Given the description of an element on the screen output the (x, y) to click on. 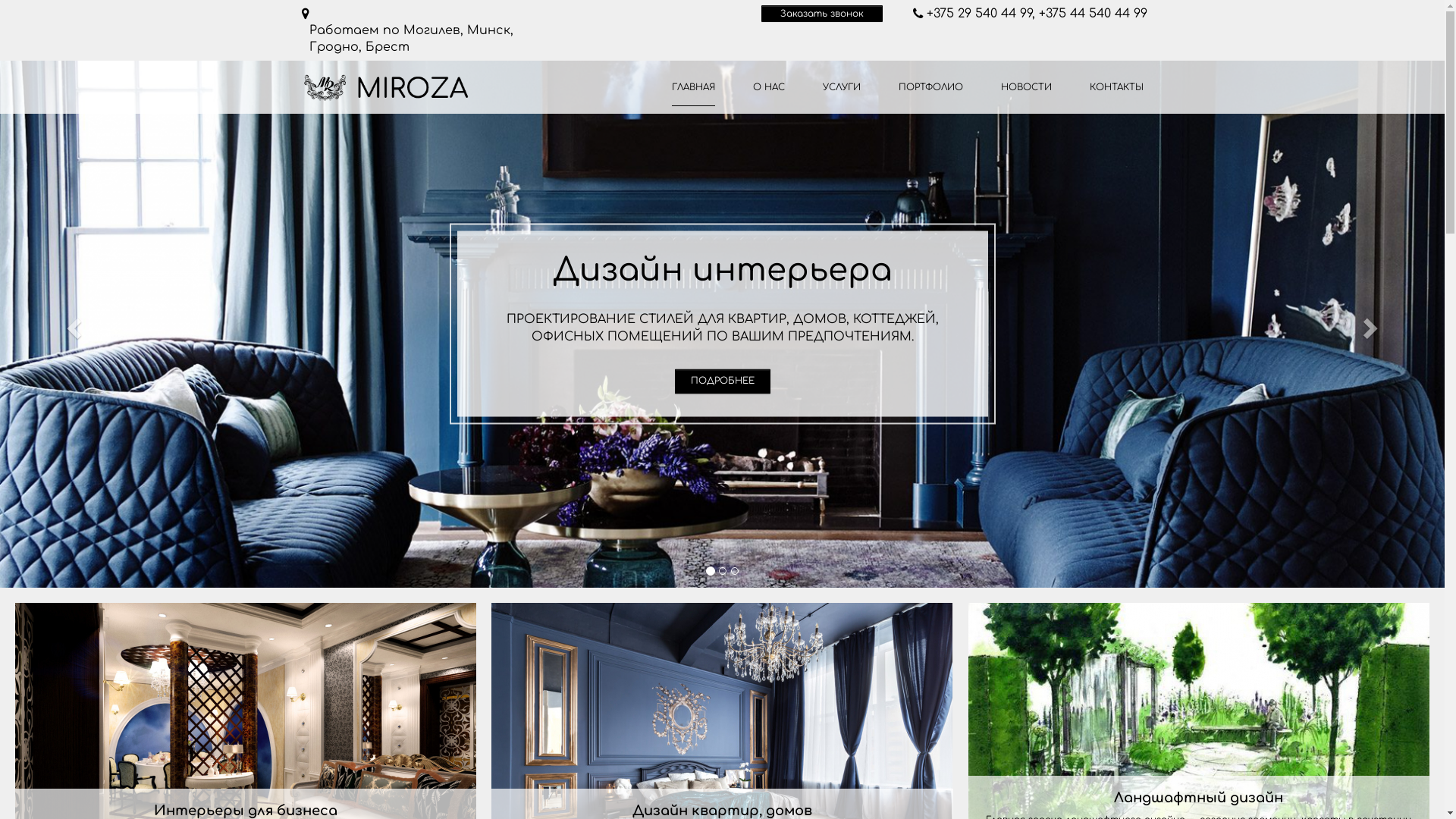
+375 29 540 44 99, +375 44 540 44 99 Element type: text (1030, 13)
